Given the description of an element on the screen output the (x, y) to click on. 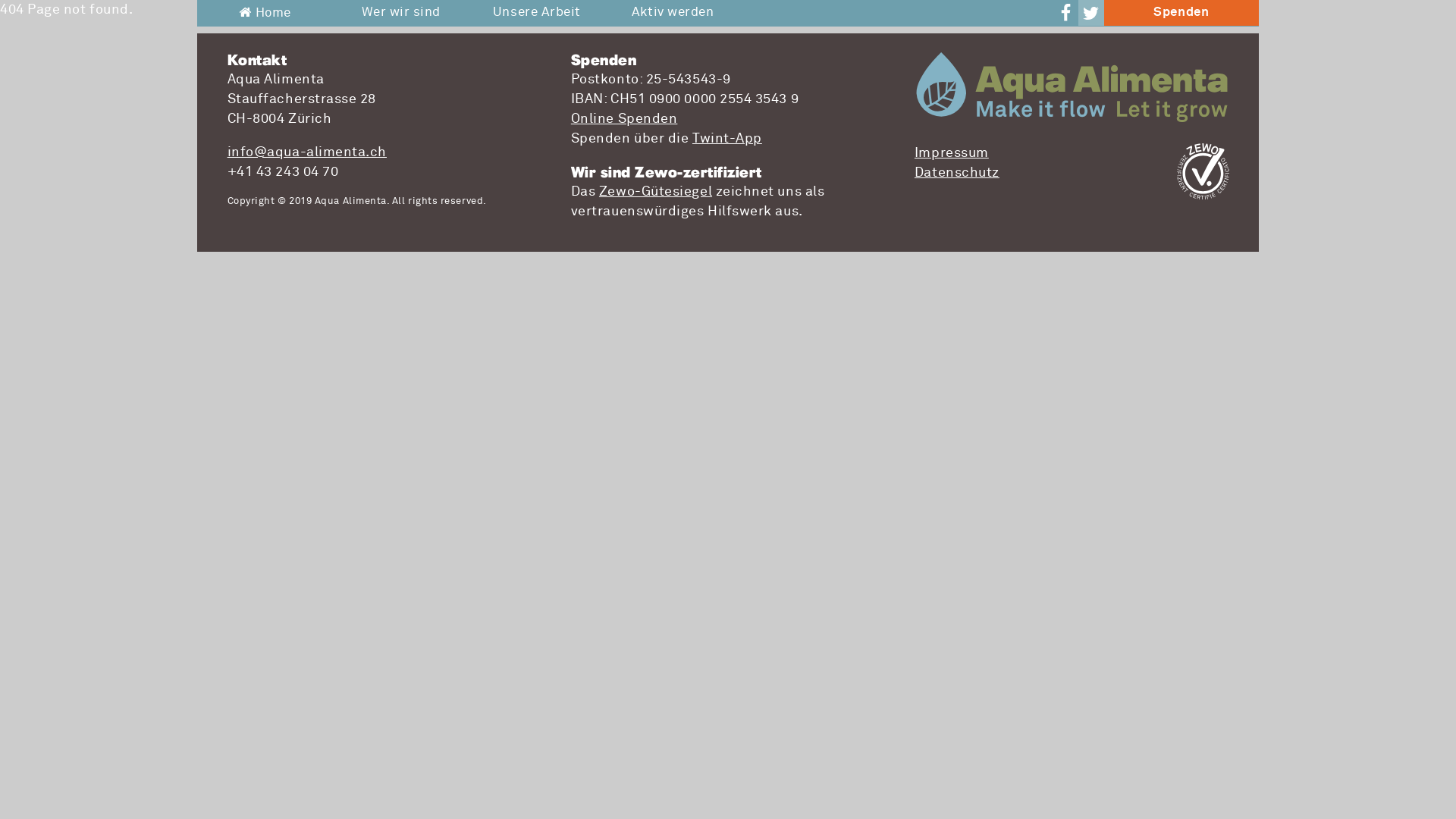
  Element type: text (1065, 12)
Datenschutz Element type: text (956, 172)
  Element type: text (1091, 12)
Aktiv werden Element type: text (672, 12)
Spenden Element type: text (1181, 12)
Twint-App Element type: text (727, 138)
Online Spenden Element type: text (624, 118)
Wer wir sind Element type: text (400, 12)
Unsere Arbeit Element type: text (536, 12)
Impressum Element type: text (951, 153)
info@aqua-alimenta.ch Element type: text (306, 152)
